Given the description of an element on the screen output the (x, y) to click on. 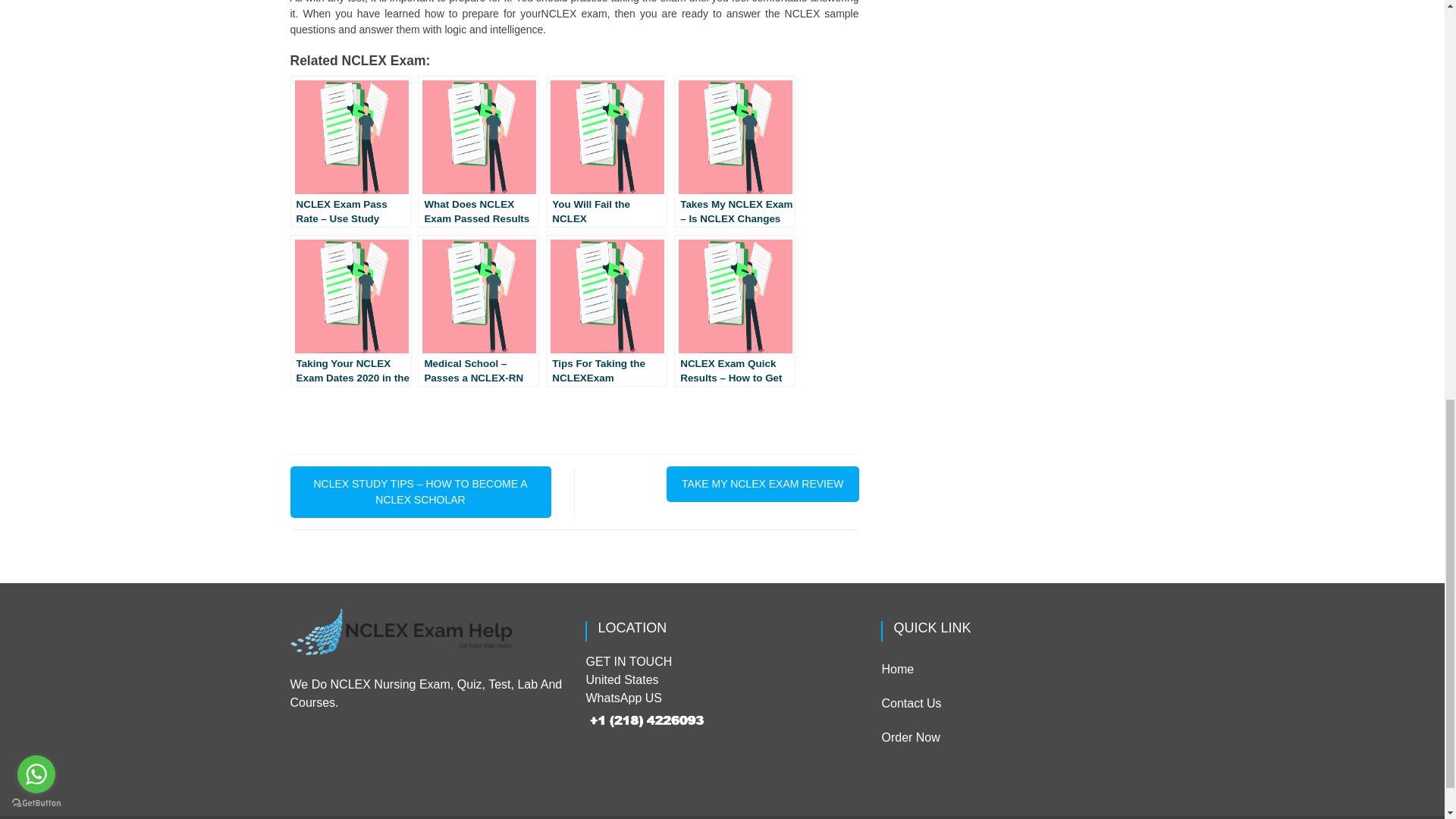
Contact Us (910, 703)
Home (897, 668)
Order Now (909, 737)
TAKE MY NCLEX EXAM REVIEW (762, 484)
